Given the description of an element on the screen output the (x, y) to click on. 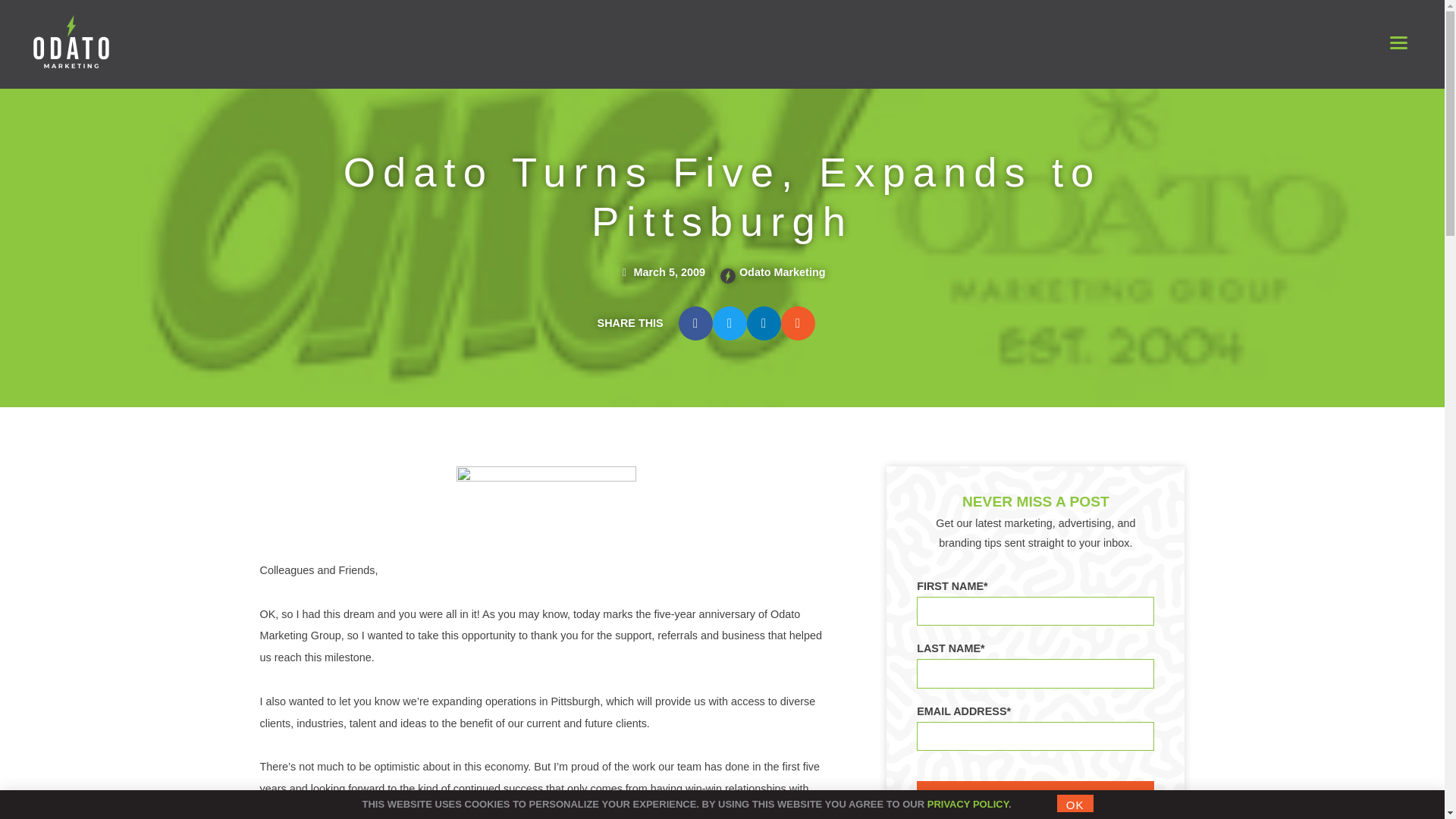
OMG5horiz (546, 501)
Sign Up (1035, 793)
Sign Up (1035, 793)
